Given the description of an element on the screen output the (x, y) to click on. 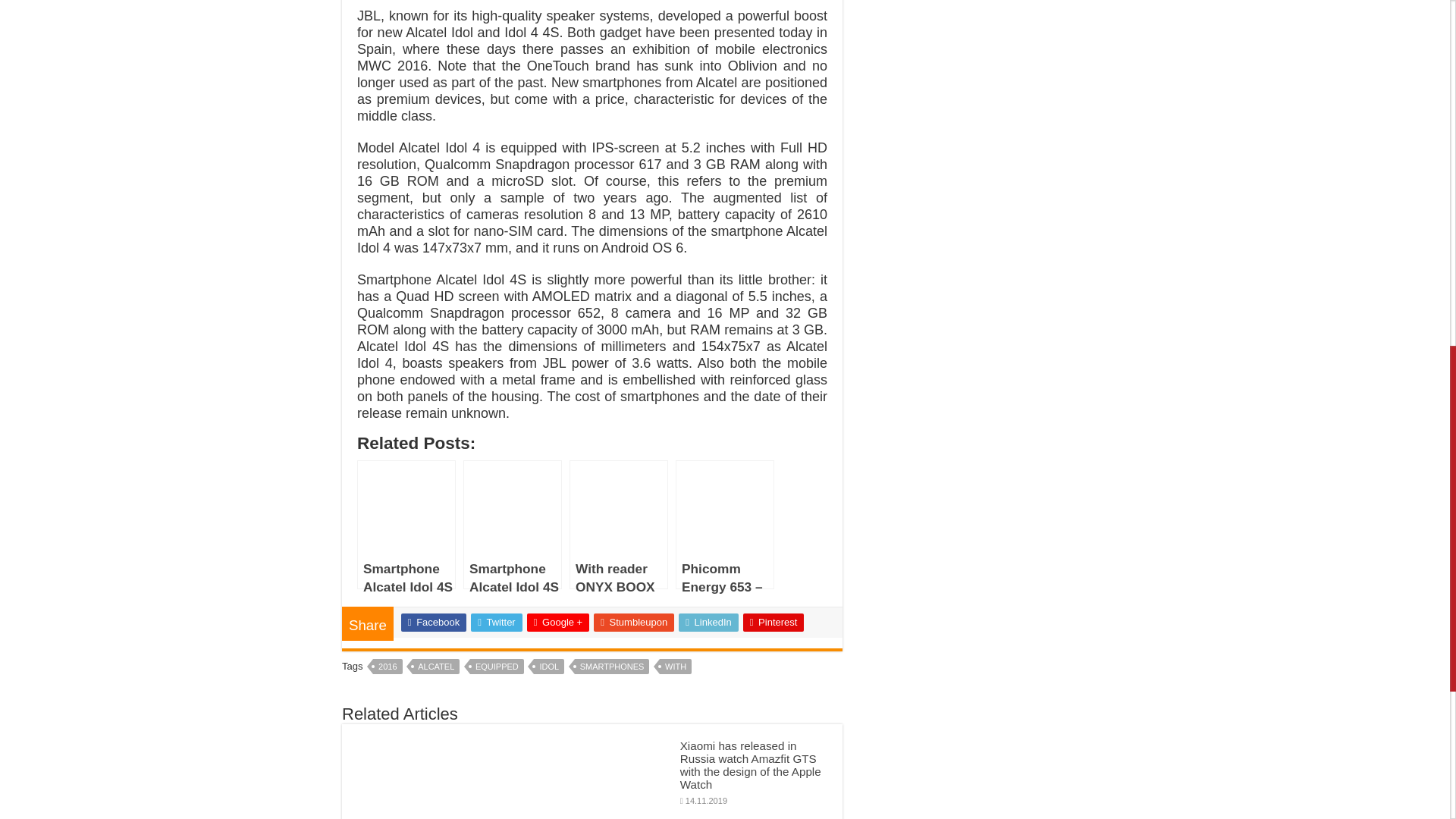
IDOL (549, 665)
SMARTPHONES (612, 665)
ALCATEL (436, 665)
Pinterest (773, 621)
WITH (675, 665)
2016 (386, 665)
Scroll To Top (1427, 60)
EQUIPPED (497, 665)
LinkedIn (708, 621)
Facebook (433, 621)
Stumbleupon (634, 621)
Twitter (495, 621)
